Given the description of an element on the screen output the (x, y) to click on. 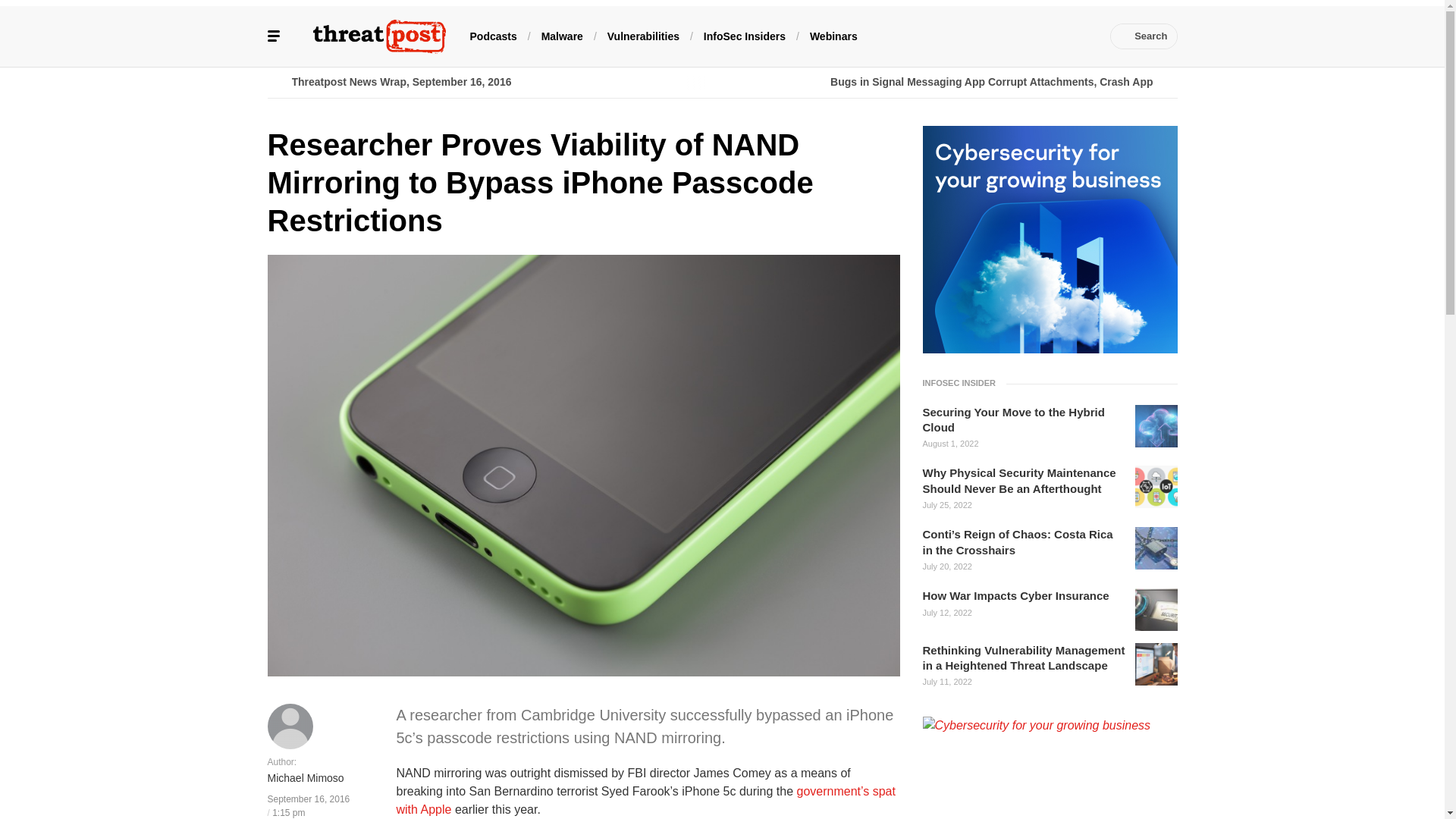
How War Impacts Cyber Insurance (1014, 595)
Facebook (944, 36)
LinkedIn (989, 36)
Webinars (833, 35)
Threatpost (379, 36)
Instagram (1057, 36)
Bugs in Signal Messaging App Corrupt Attachments, Crash App (949, 82)
InfoSec Insiders (744, 35)
Search (1143, 36)
Malware (562, 35)
YouTube (1012, 36)
Twitter (966, 36)
Podcasts (493, 35)
Michael Mimoso (304, 778)
